Given the description of an element on the screen output the (x, y) to click on. 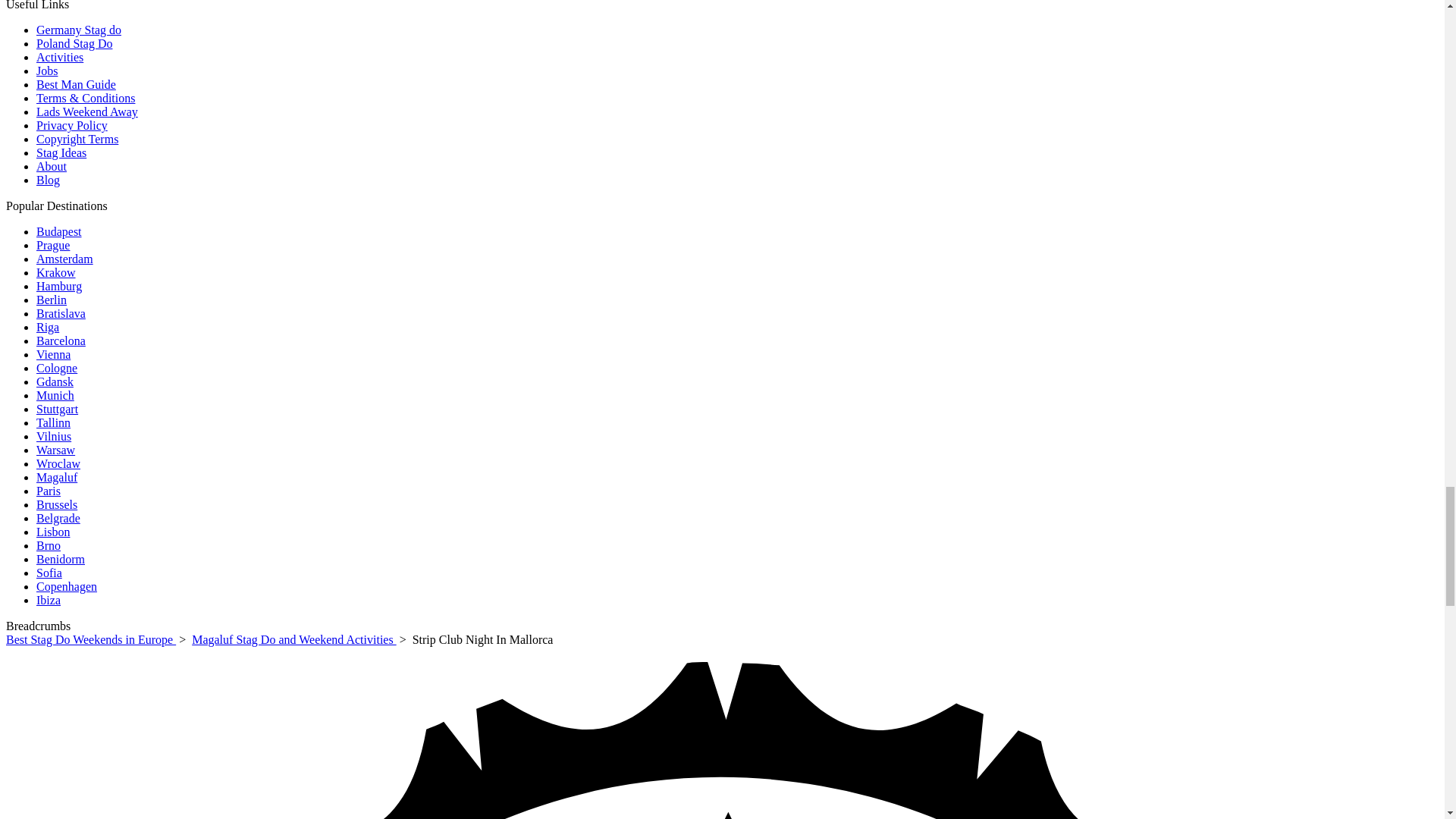
Prague Stag Do (52, 245)
Munich Stag Do (55, 395)
Vienna Stag Do (52, 354)
Stuttgart Stag Do (57, 408)
Bratislava Stag Do (60, 313)
Berlin Stag Do (51, 299)
Hamburg Stag Do (58, 286)
Riga Stag Do (47, 327)
Vilnius Stag Do (53, 436)
Krakow Stag Do (55, 272)
Barcelona Stag Do (60, 340)
Budapest Stag Do (58, 231)
Tallinn Stag Do (52, 422)
Cologne Stag Do (56, 367)
Gdansk Stag Do (55, 381)
